Given the description of an element on the screen output the (x, y) to click on. 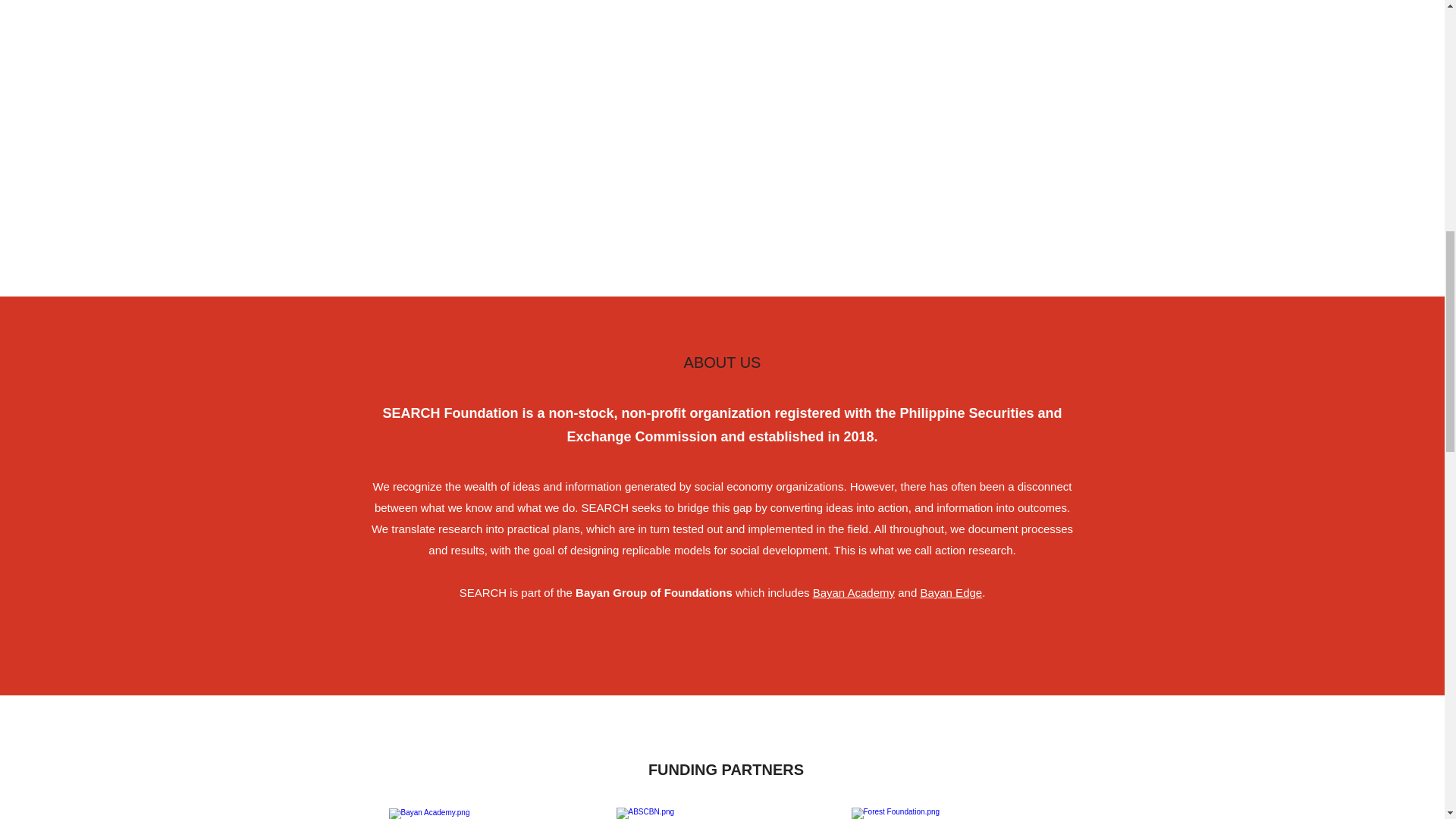
Bayan Edge (950, 592)
Bayan Academy (853, 592)
